Given the description of an element on the screen output the (x, y) to click on. 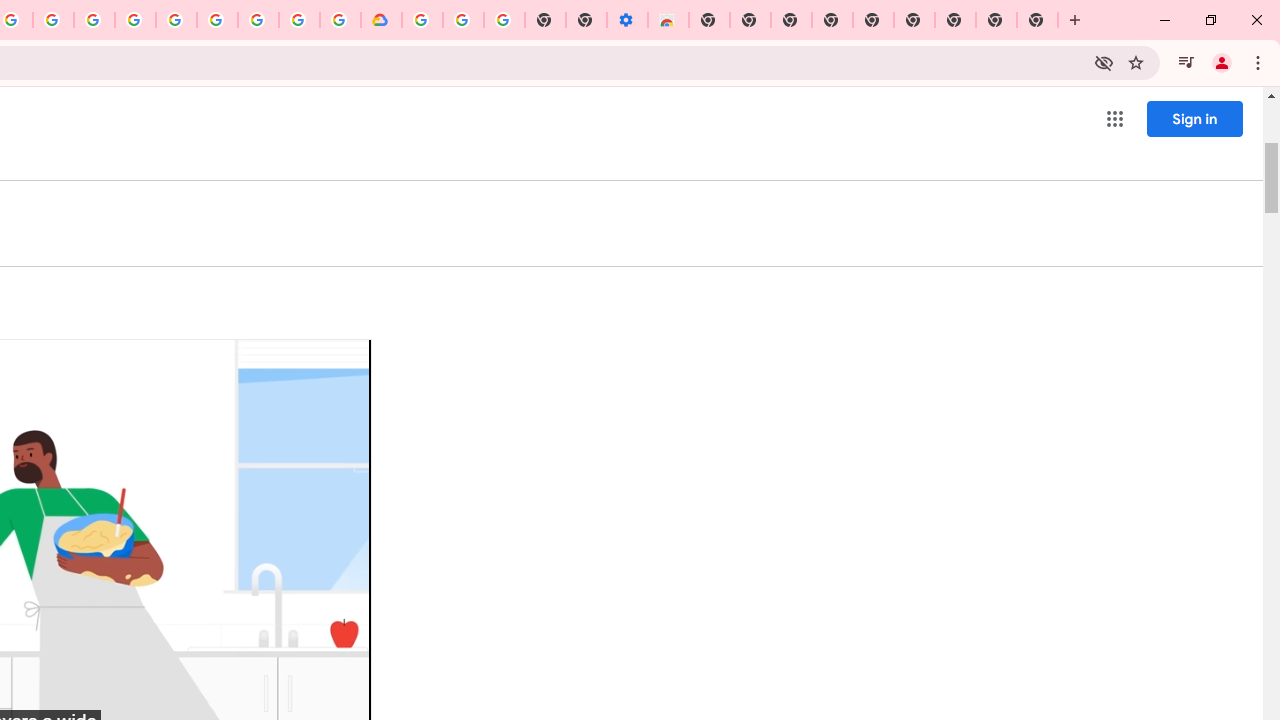
Settings - Accessibility (626, 20)
Google Account Help (462, 20)
Browse the Google Chrome Community - Google Chrome Community (340, 20)
New Tab (1037, 20)
Create your Google Account (299, 20)
Sign in - Google Accounts (421, 20)
